Given the description of an element on the screen output the (x, y) to click on. 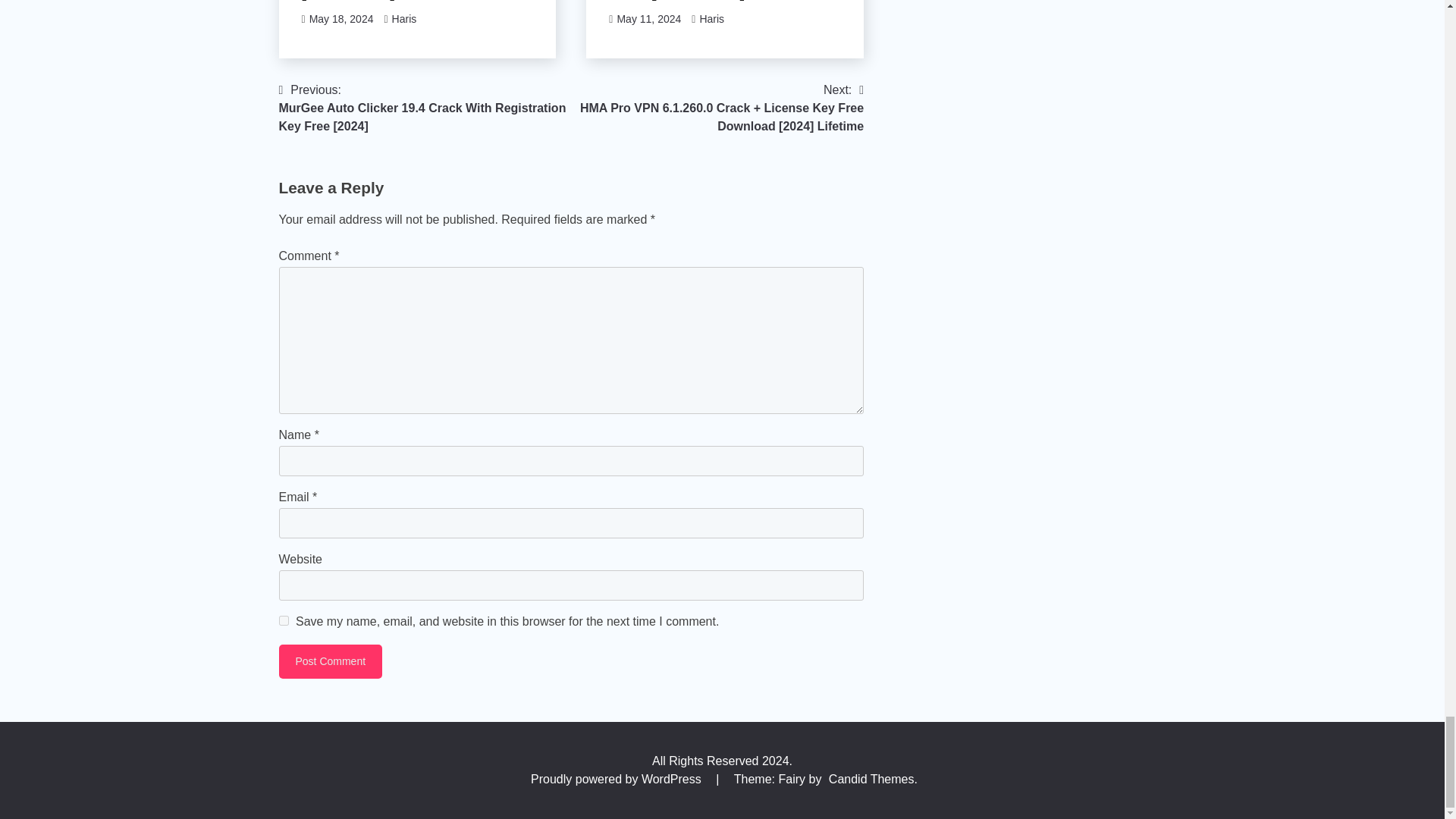
yes (283, 620)
Post Comment (330, 661)
